Given the description of an element on the screen output the (x, y) to click on. 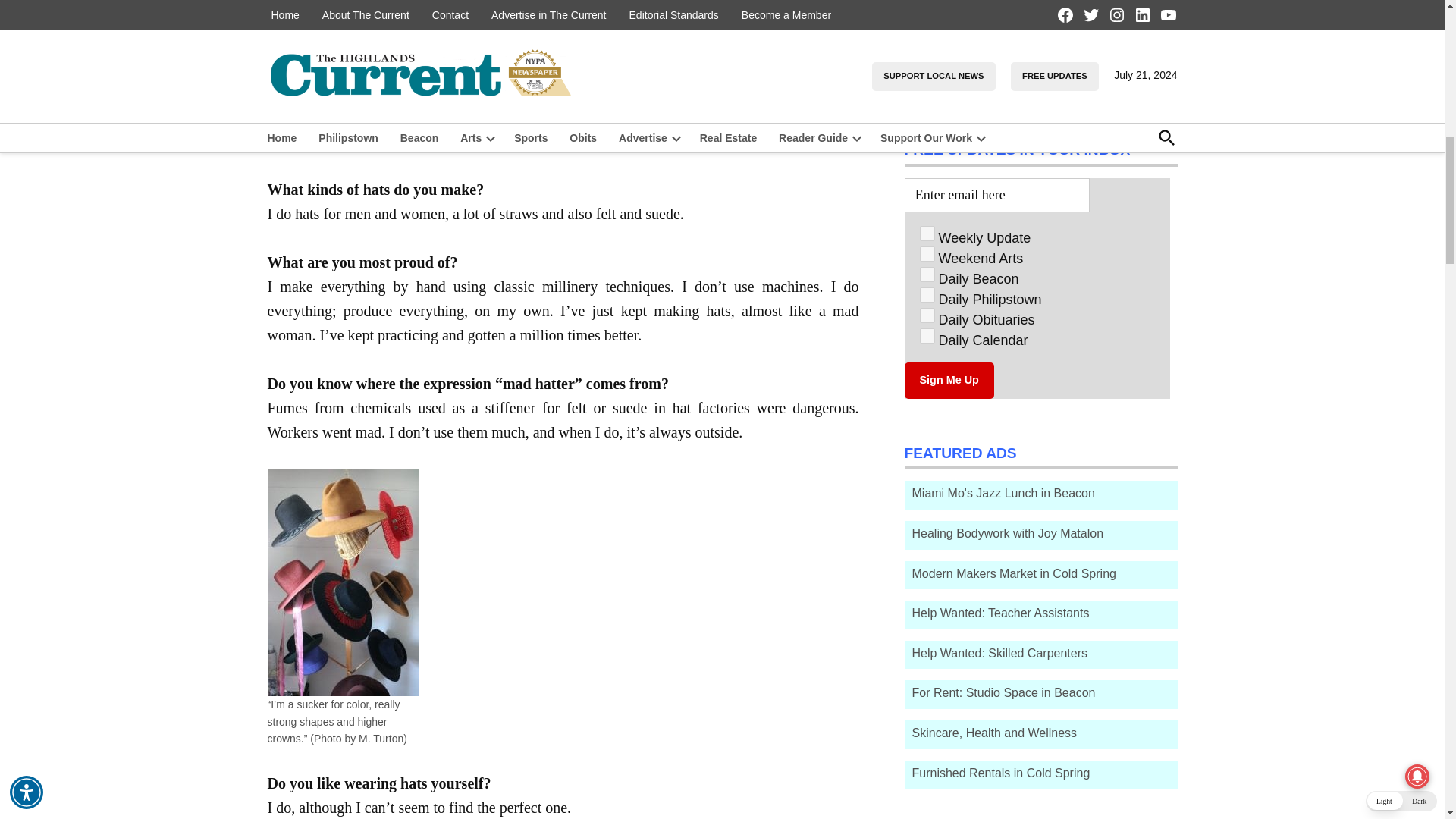
Enter email here (996, 195)
State Approves Central Hudson Rate Hikes (936, 6)
Sign Me Up (948, 380)
